Given the description of an element on the screen output the (x, y) to click on. 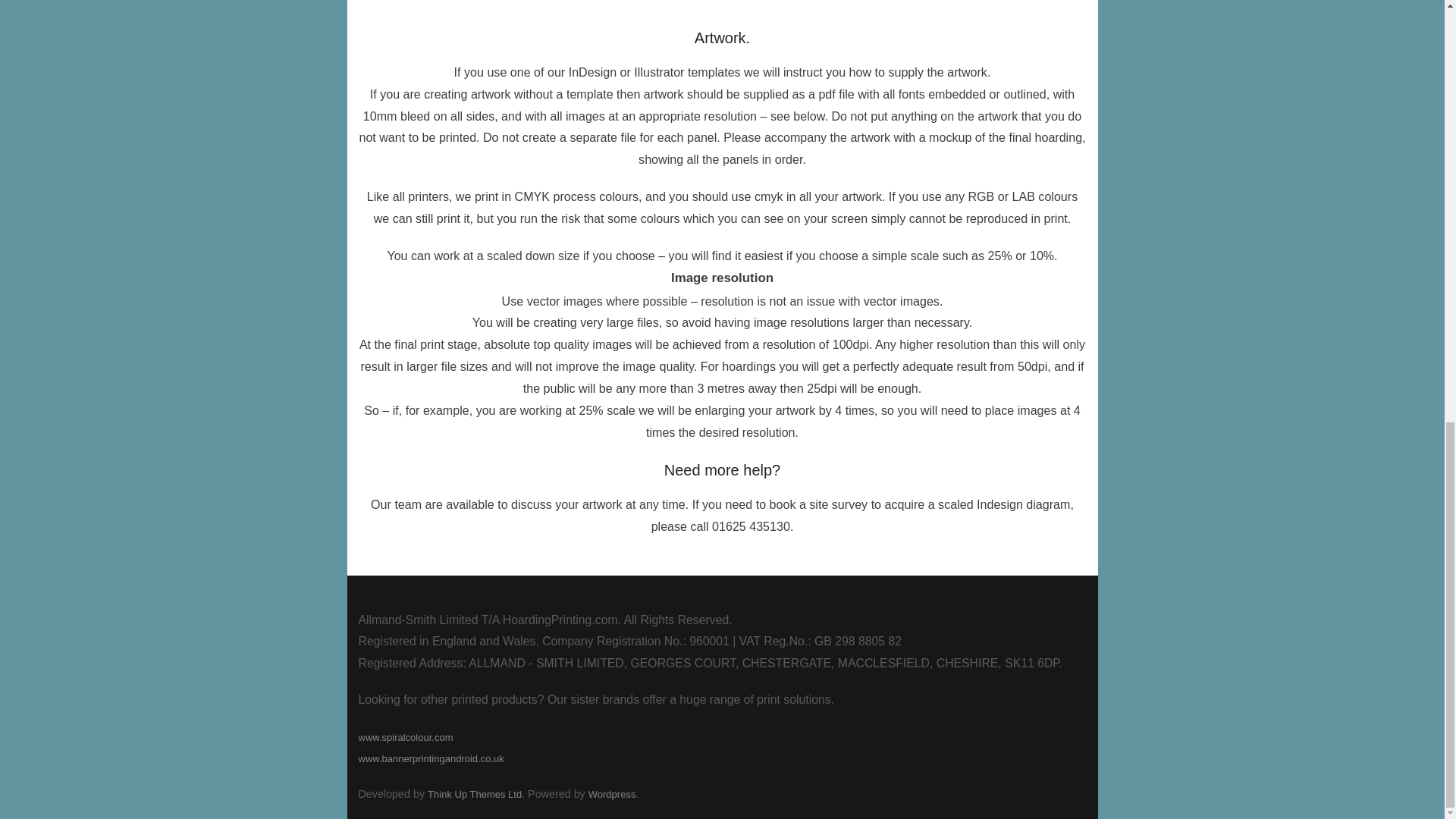
Wordpress (612, 794)
Think Up Themes Ltd (474, 794)
www.spiralcolour.com (405, 737)
www.bannerprintingandroid.co.uk (430, 758)
